Given the description of an element on the screen output the (x, y) to click on. 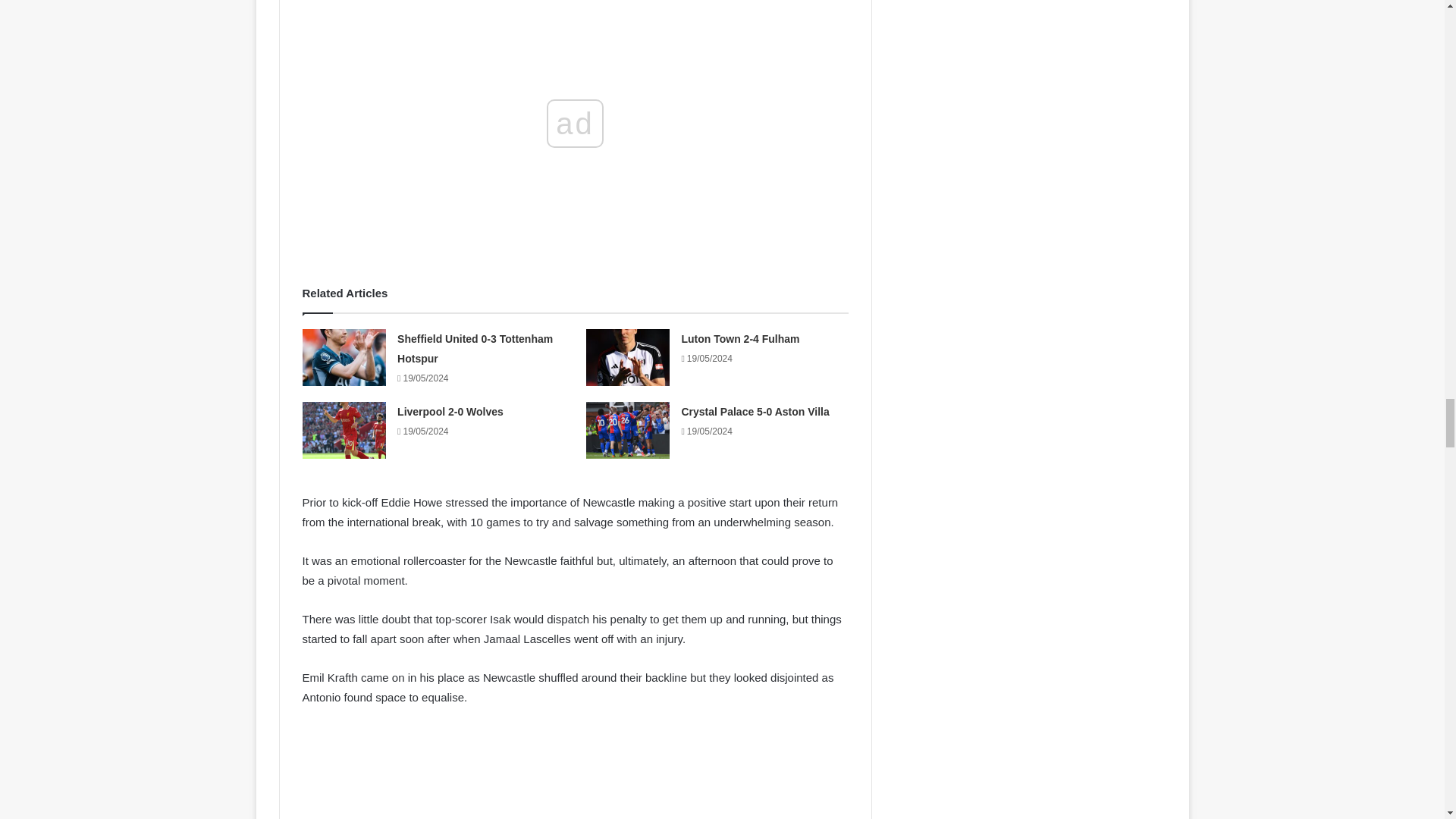
Crystal Palace 5-0 Aston Villa (754, 411)
Liverpool 2-0 Wolves (450, 411)
Luton Town 2-4 Fulham (740, 338)
Sheffield United 0-3 Tottenham Hotspur (475, 348)
